Given the description of an element on the screen output the (x, y) to click on. 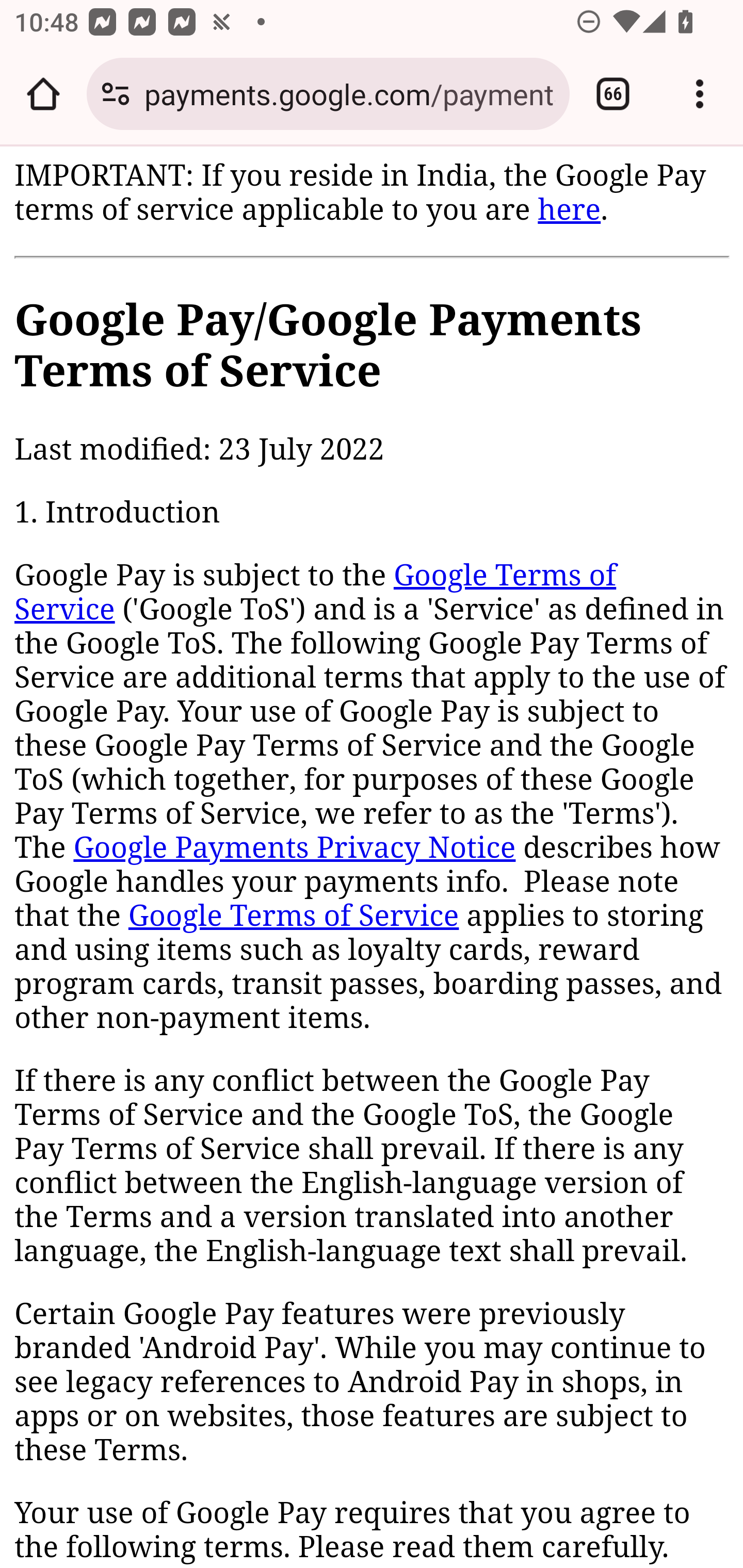
Open the home page (43, 93)
Connection is secure (115, 93)
Switch or close tabs (612, 93)
Customize and control Google Chrome (699, 93)
here (568, 209)
Google Terms of Service (315, 593)
Google Payments Privacy Notice (294, 849)
Google Terms of Service (292, 916)
